Given the description of an element on the screen output the (x, y) to click on. 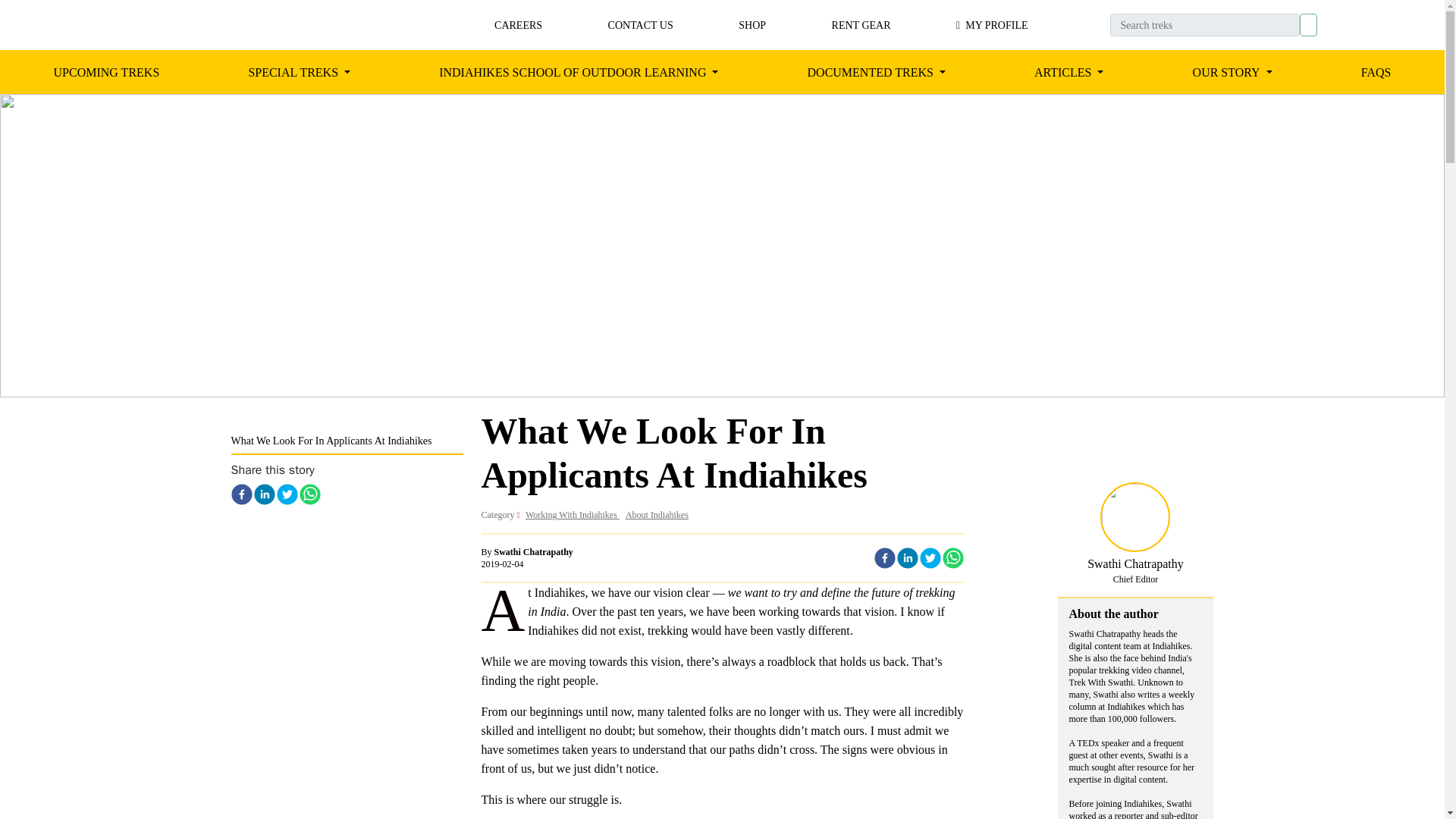
FAQS (1376, 71)
OUR STORY (1232, 72)
RENT GEAR (860, 24)
MY PROFILE (991, 24)
Working With Indiahikes (572, 514)
DOCUMENTED TREKS (761, 24)
UPCOMING TREKS (877, 72)
SPECIAL TREKS (106, 71)
ARTICLES (298, 72)
About Indiahikes (1068, 72)
CONTACT US (657, 514)
INDIAHIKES SCHOOL OF OUTDOOR LEARNING (640, 24)
SHOP (577, 72)
